Given the description of an element on the screen output the (x, y) to click on. 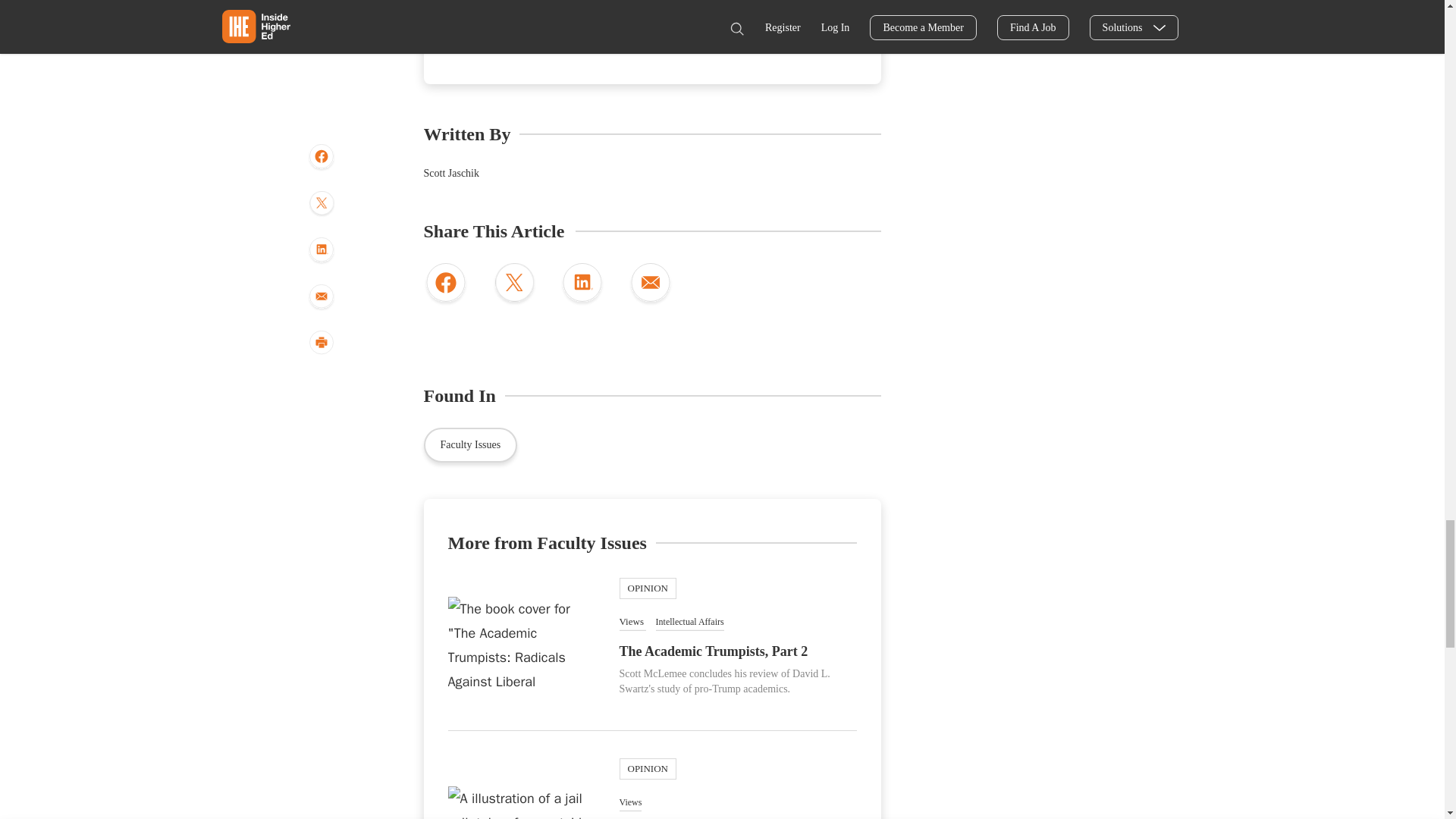
share to facebook (445, 284)
